Given the description of an element on the screen output the (x, y) to click on. 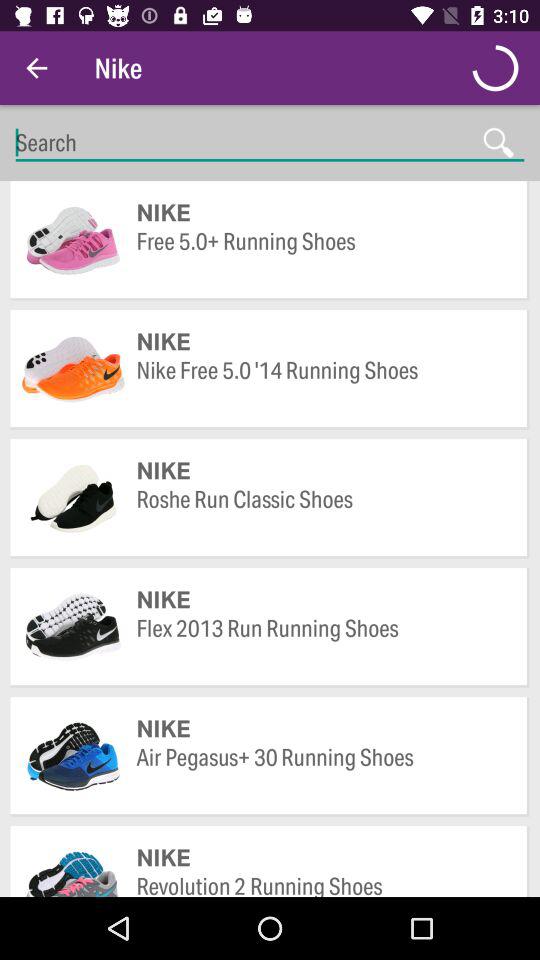
scroll until revolution 2 running icon (322, 884)
